Given the description of an element on the screen output the (x, y) to click on. 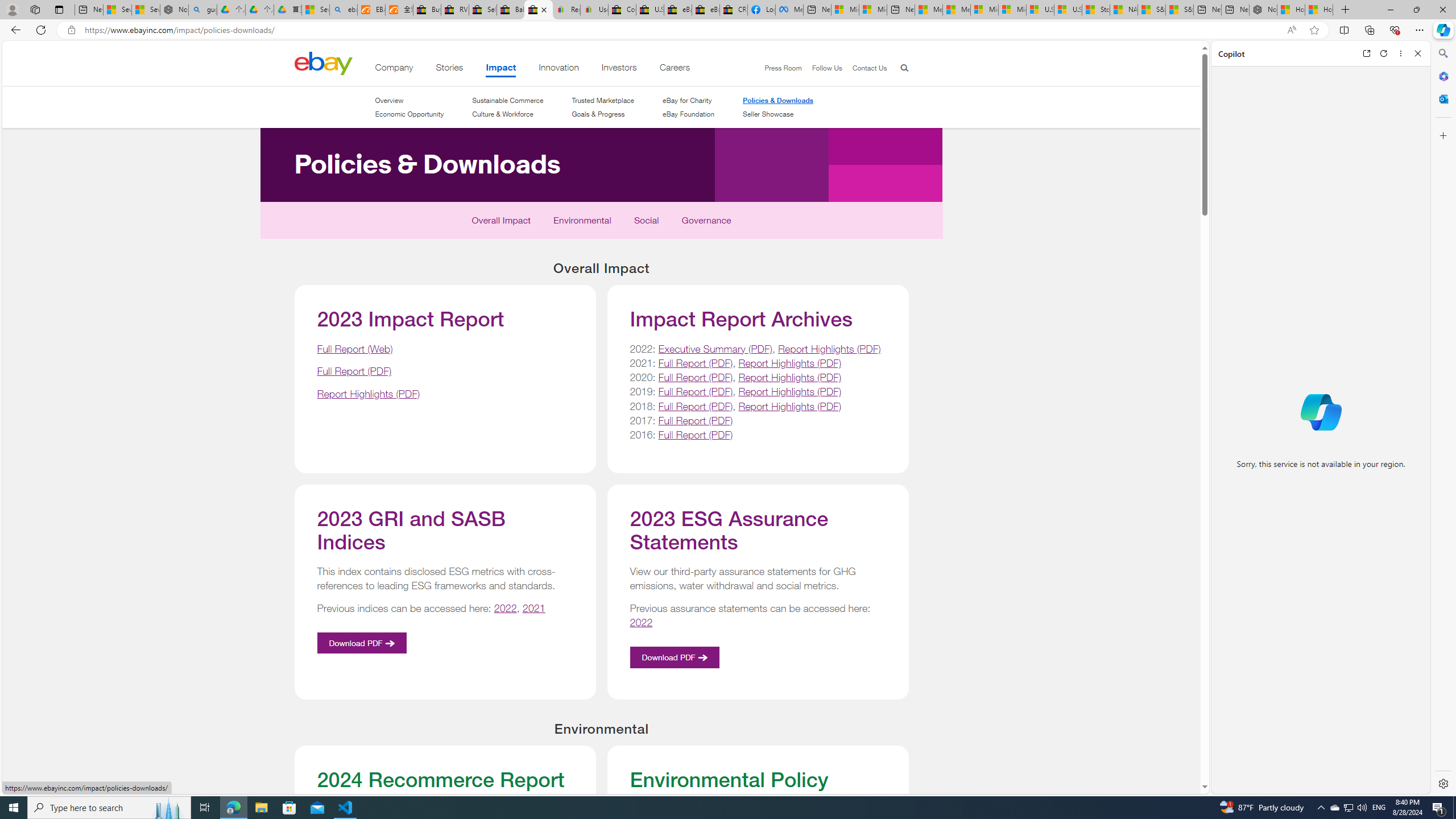
Side bar (1443, 418)
User Privacy Notice | eBay (593, 9)
Careers (674, 69)
Overview (388, 99)
Governance (705, 222)
Seller Showcase (777, 113)
